Given the description of an element on the screen output the (x, y) to click on. 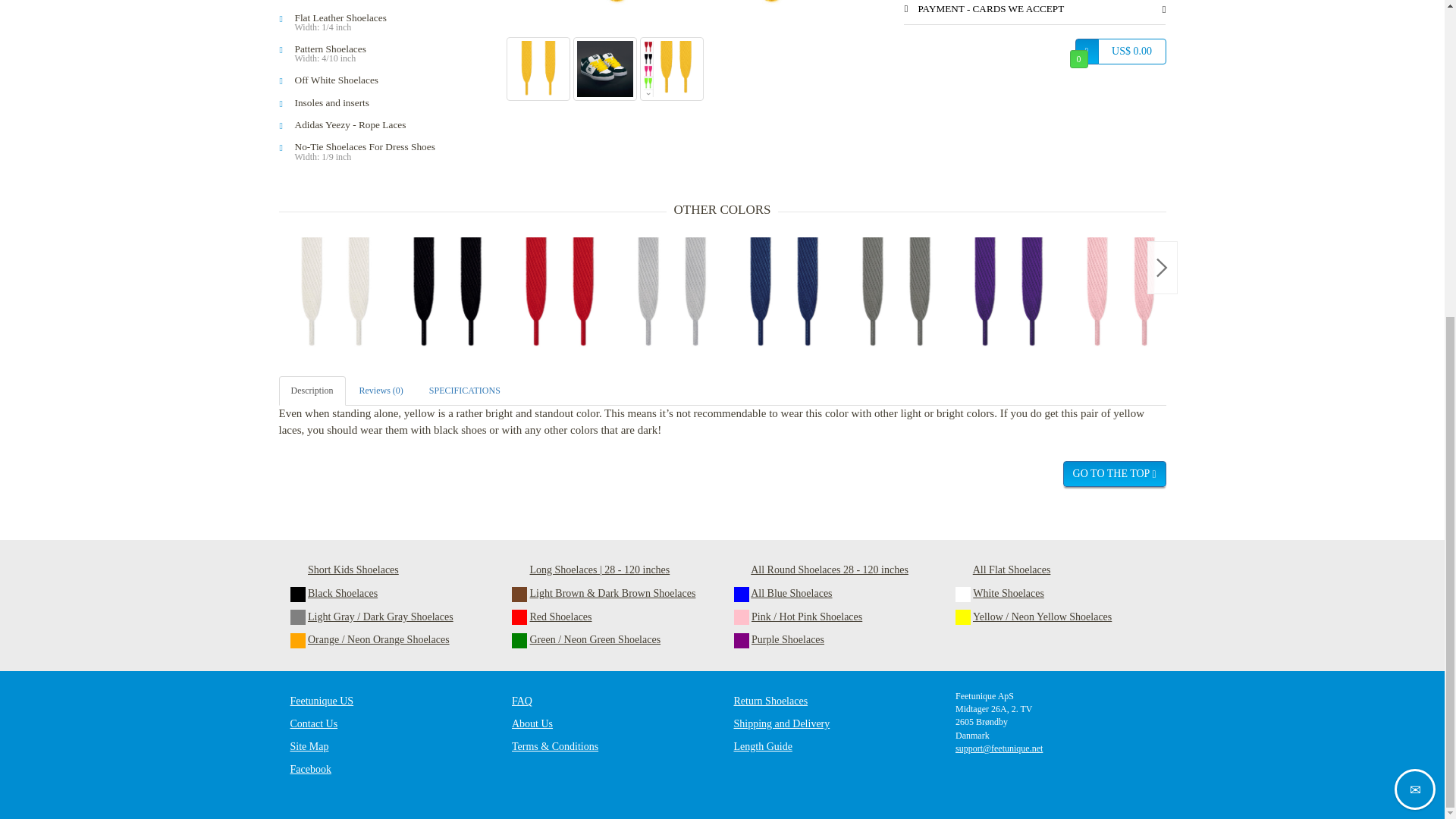
Adidas Yeezy - Rope Laces (387, 124)
Super wide white shoelaces (335, 293)
Super wide light gray shoelaces (671, 293)
Off White Shoelaces (387, 79)
Super wide black shoelaces (447, 293)
Super wide red shoelaces (559, 293)
Insoles and inserts (387, 102)
Super wide yellow shoelaces (694, 7)
